Given the description of an element on the screen output the (x, y) to click on. 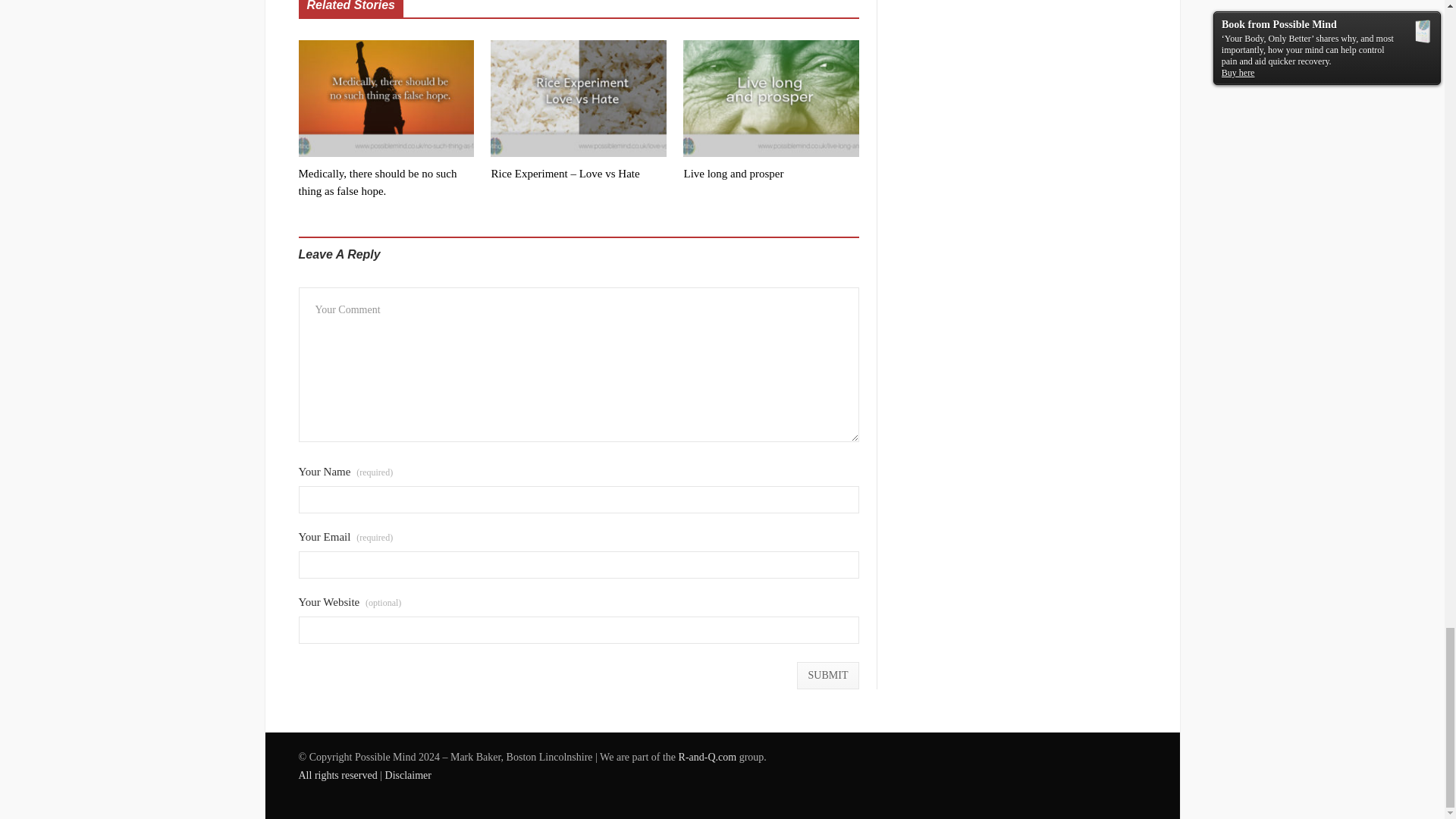
Submit (828, 675)
